Given the description of an element on the screen output the (x, y) to click on. 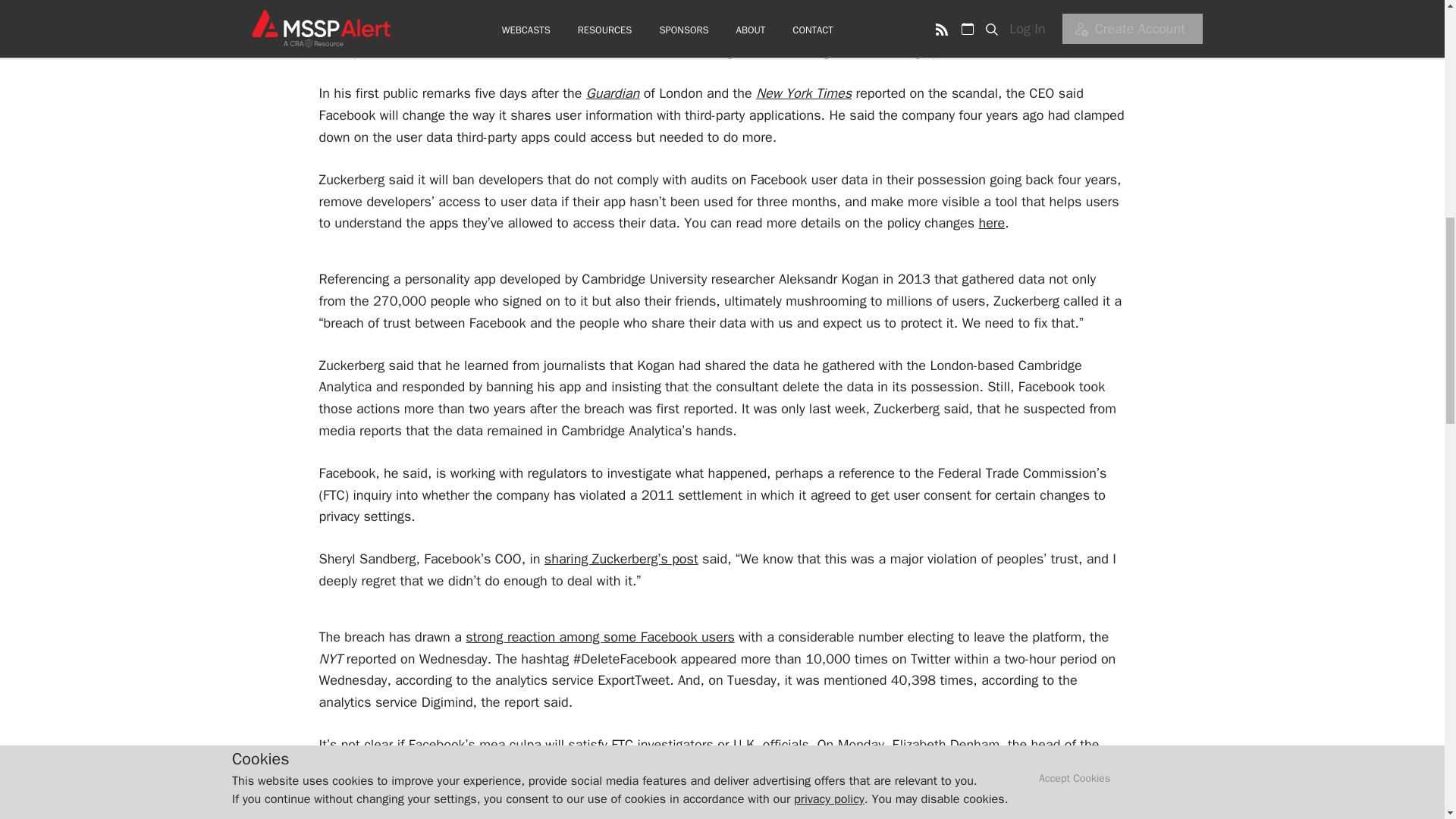
strong reaction among some Facebook users (599, 636)
here (991, 222)
Facebook post (985, 51)
New York Times (803, 93)
Guardian (612, 93)
